Given the description of an element on the screen output the (x, y) to click on. 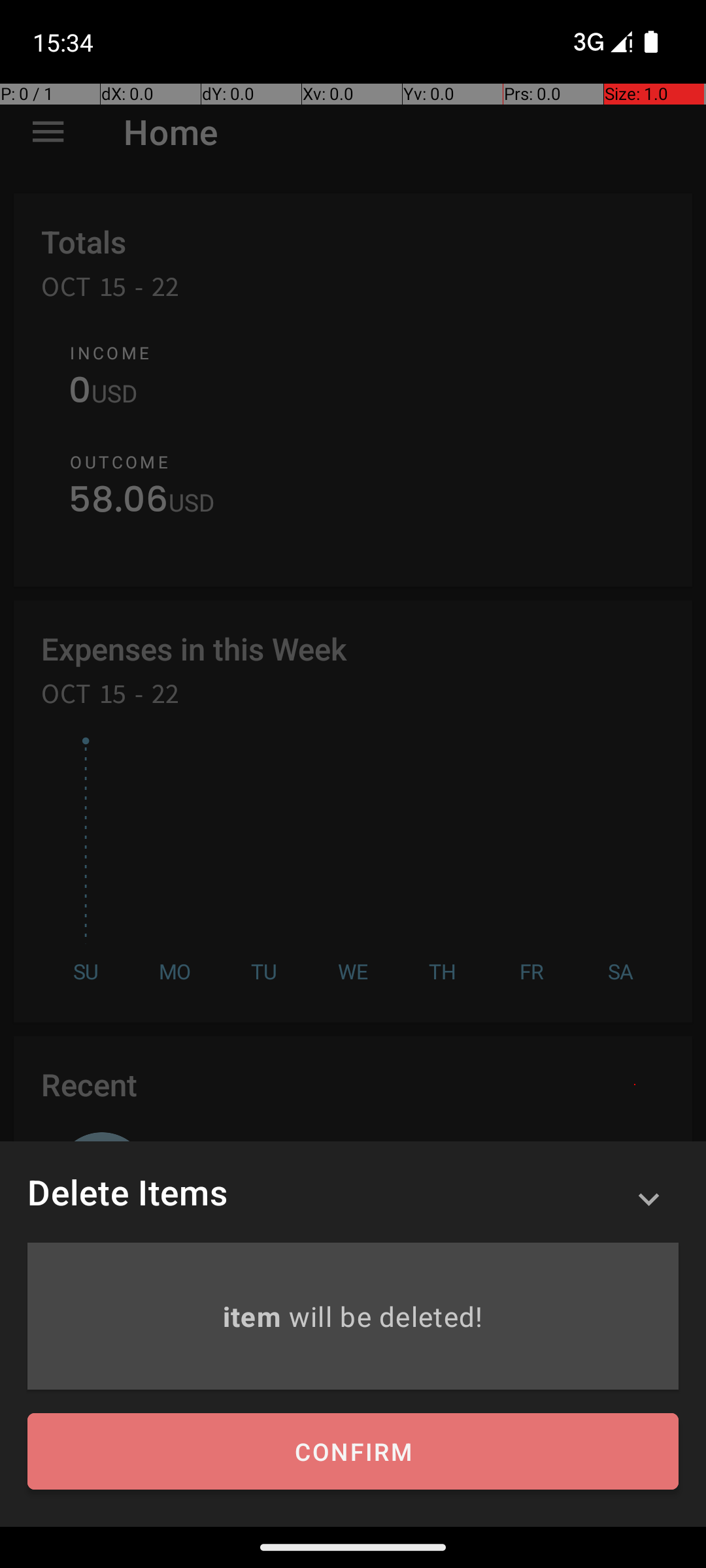
Delete Items Element type: android.widget.TextView (127, 1191)
item  Element type: android.widget.TextView (255, 1315)
will be deleted! Element type: android.widget.TextView (385, 1315)
CONFIRM Element type: android.widget.Button (352, 1451)
